Given the description of an element on the screen output the (x, y) to click on. 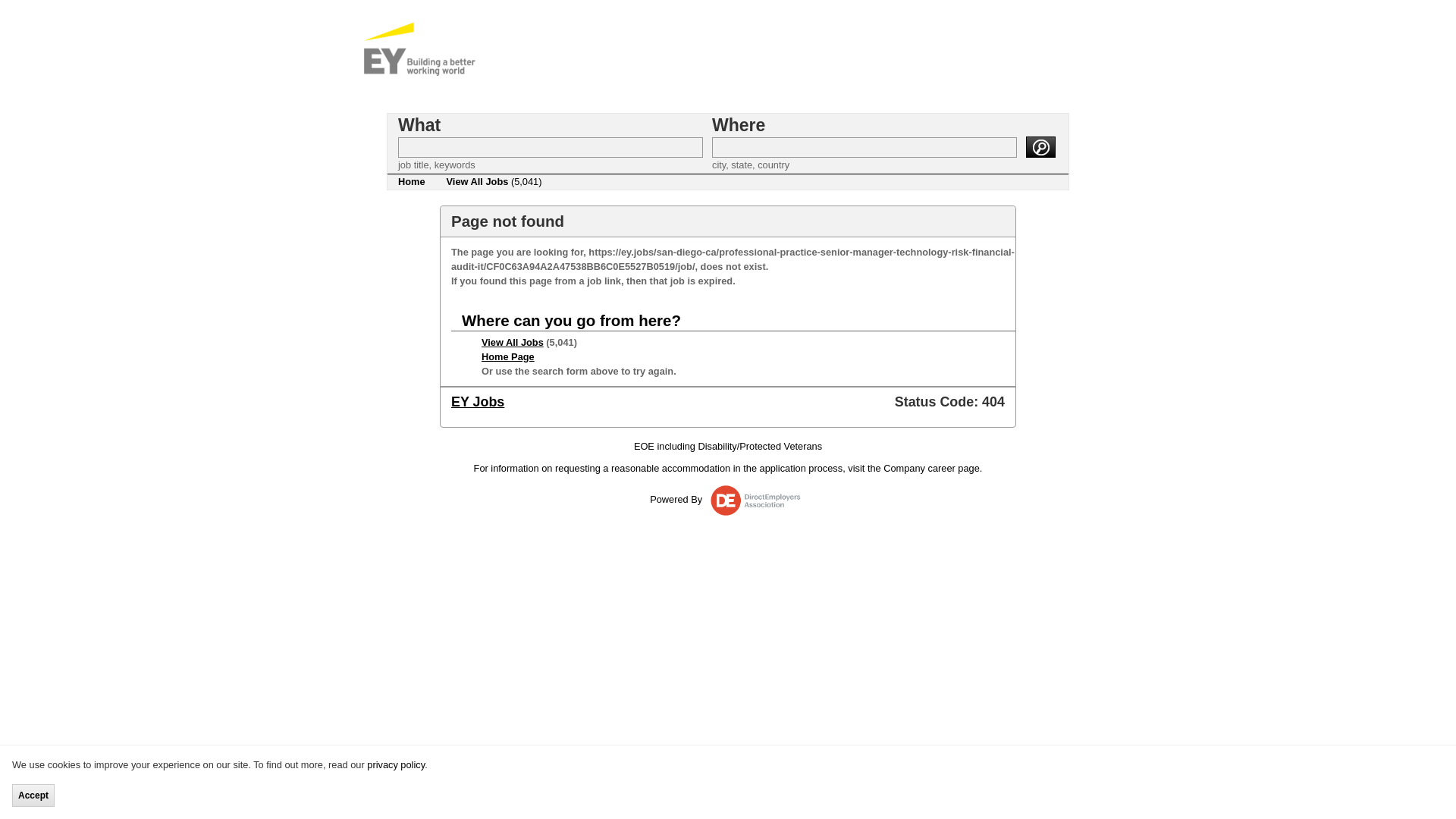
visit the Company career page (913, 468)
requesting a reasonable accommodation (642, 468)
EY Jobs (477, 401)
Submit Search (1040, 147)
Home (411, 181)
Search Phrase (550, 147)
View All Jobs (512, 342)
search (1040, 147)
search (1040, 147)
Search Location (863, 147)
Home Page (507, 356)
